Given the description of an element on the screen output the (x, y) to click on. 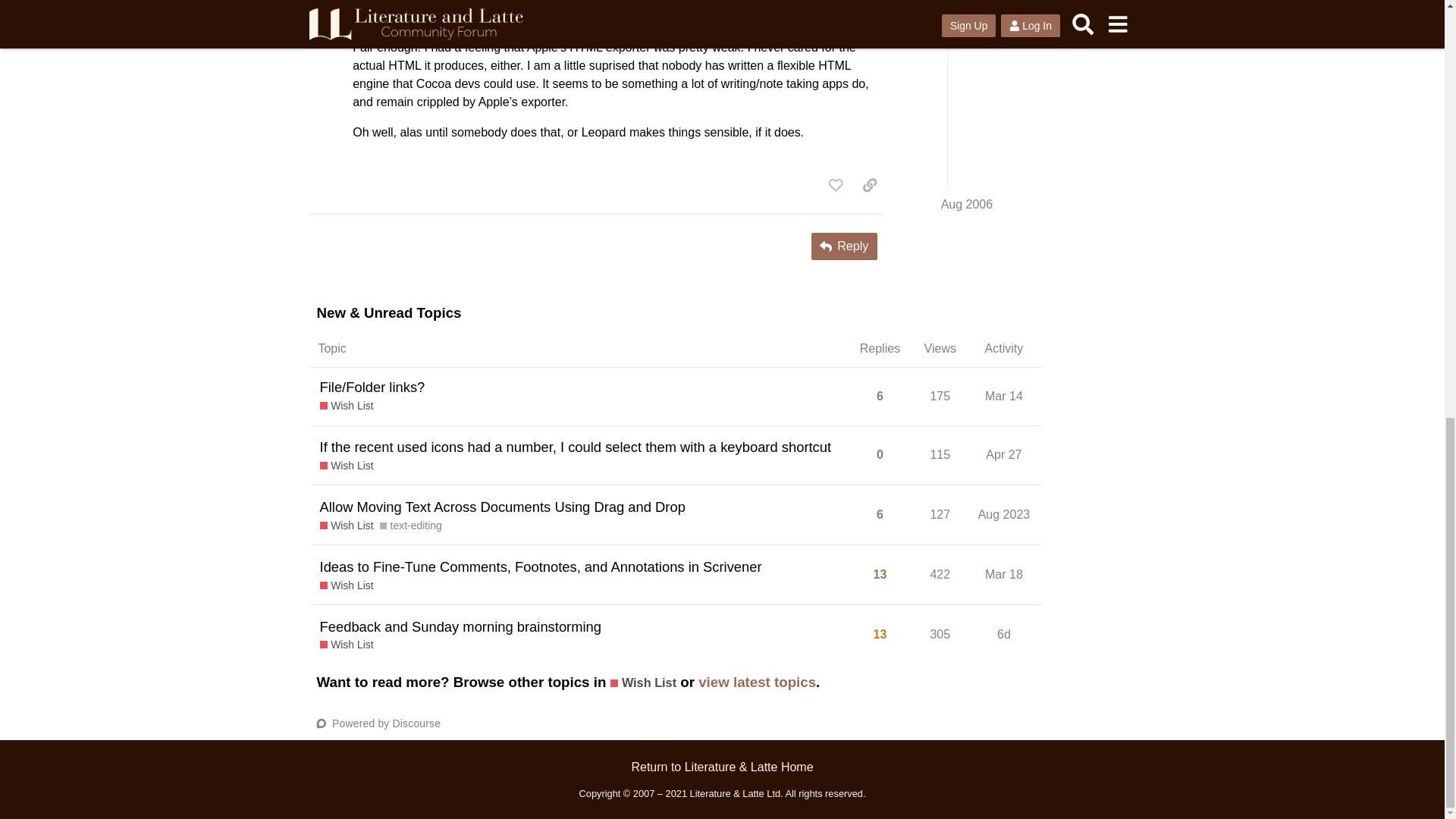
Aug 2006 (850, 13)
Reply (843, 246)
Mar 14 (1003, 396)
Wish List (347, 406)
AmberV (375, 13)
6 (879, 396)
